Given the description of an element on the screen output the (x, y) to click on. 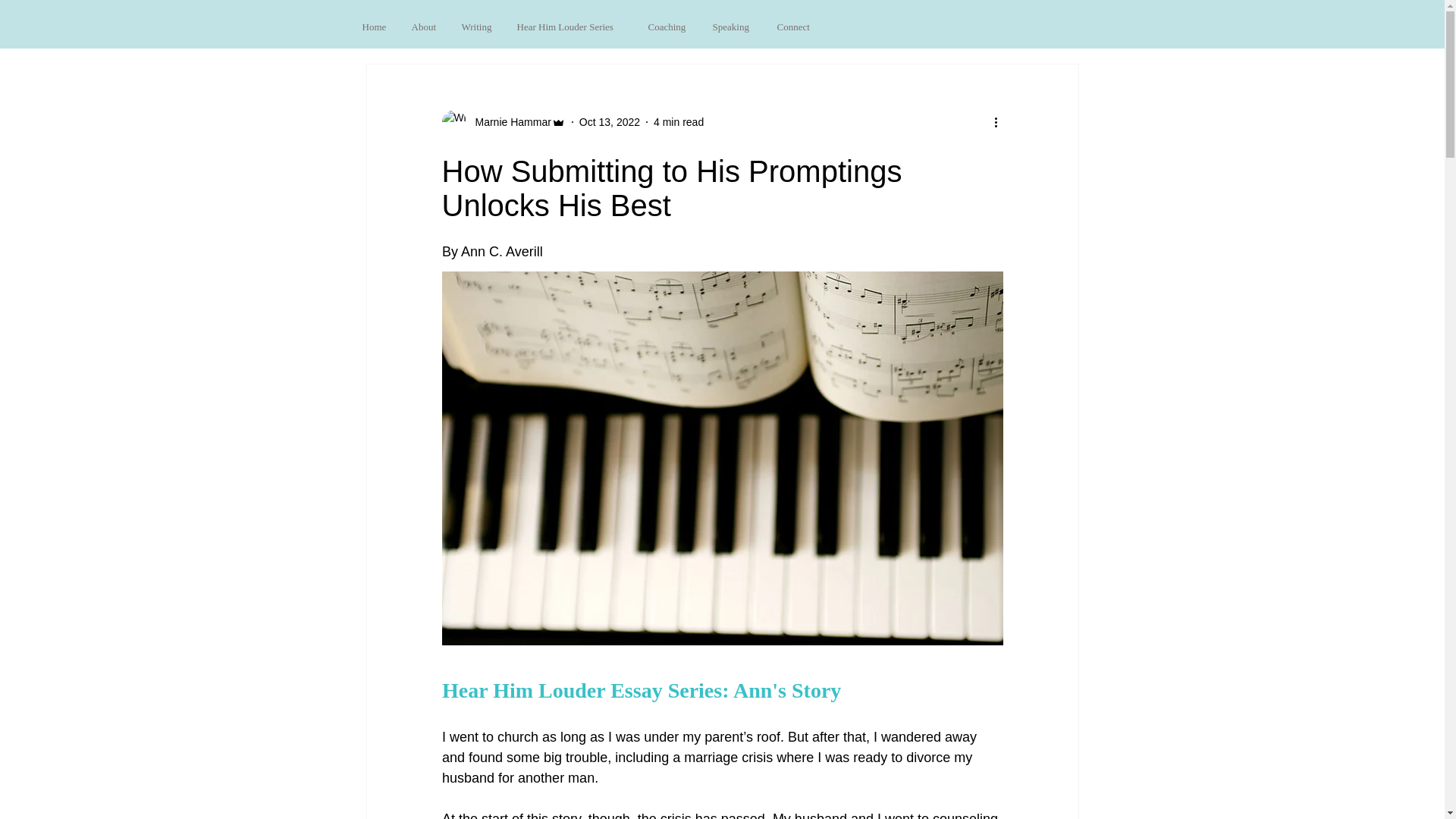
Hear Him Louder Series (570, 26)
Coaching (669, 26)
About (424, 26)
Home (374, 26)
Marnie Hammar (507, 121)
Speaking (732, 26)
Connect (795, 26)
Oct 13, 2022 (609, 121)
Writing (477, 26)
4 min read (678, 121)
